Given the description of an element on the screen output the (x, y) to click on. 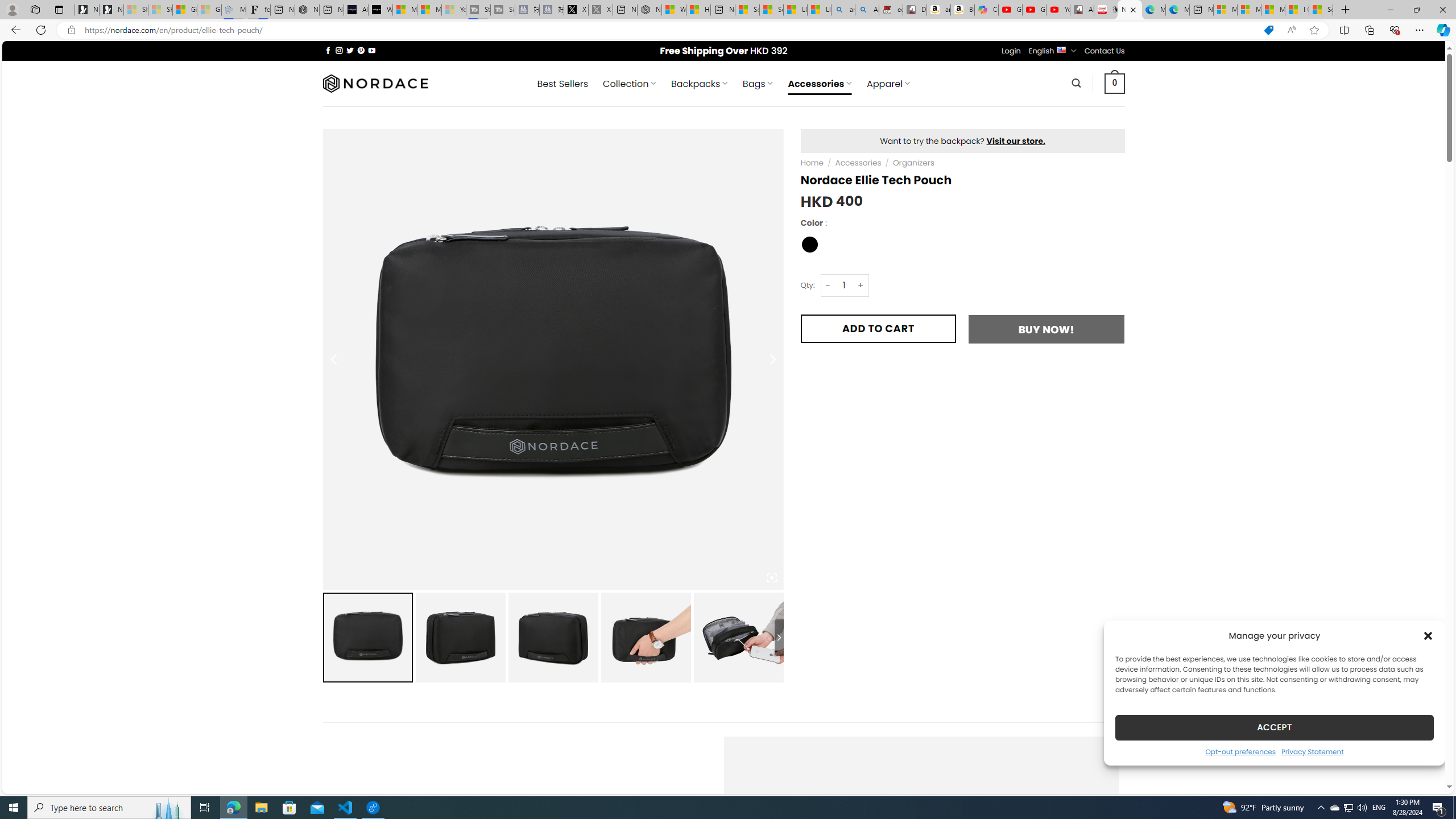
Gloom - YouTube (1034, 9)
